Given the description of an element on the screen output the (x, y) to click on. 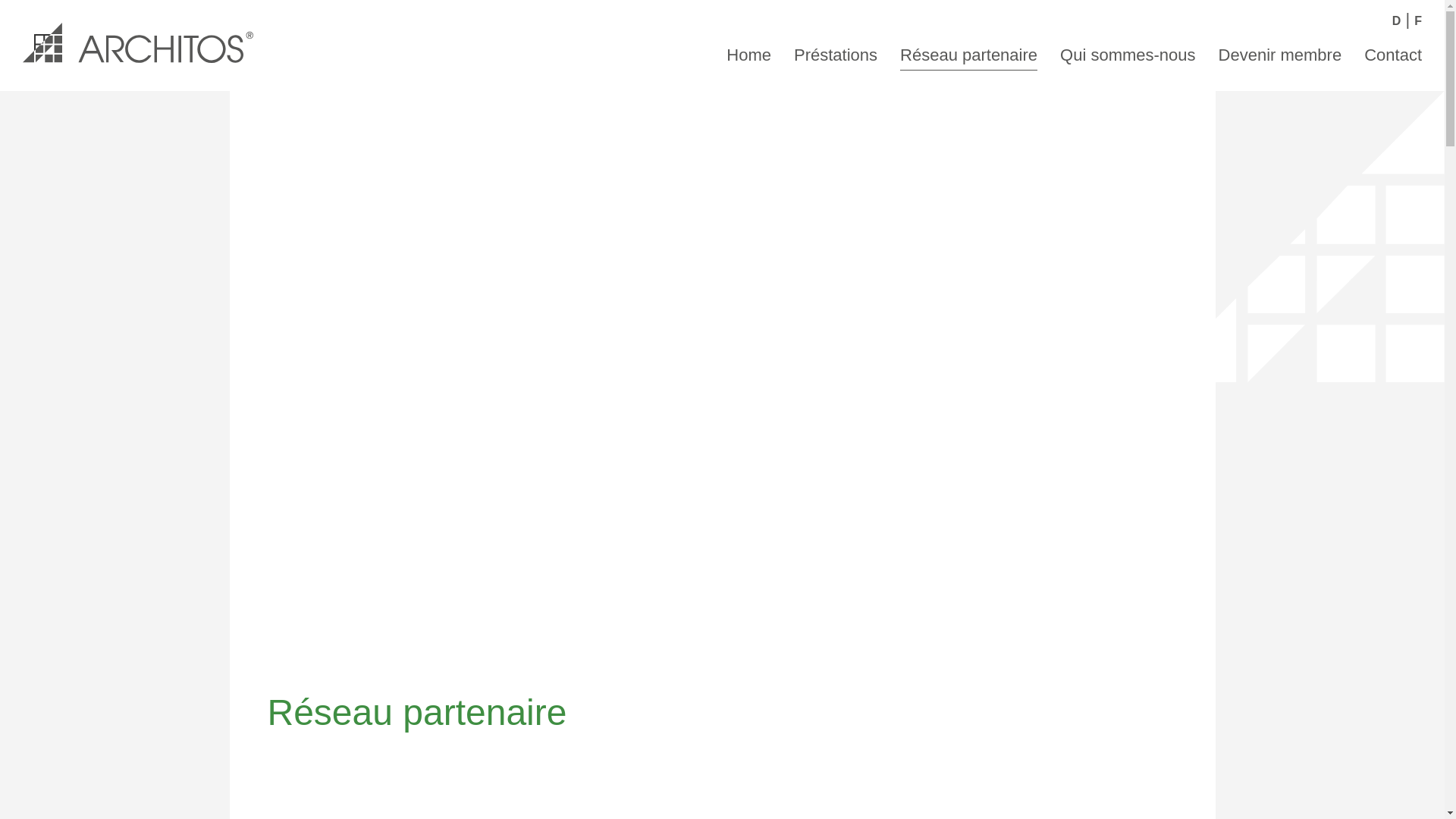
F Element type: text (1417, 20)
Home Element type: text (748, 53)
Contact Element type: text (1392, 53)
Qui sommes-nous Element type: text (1127, 53)
D Element type: text (1396, 20)
Devenir membre Element type: text (1280, 53)
